Given the description of an element on the screen output the (x, y) to click on. 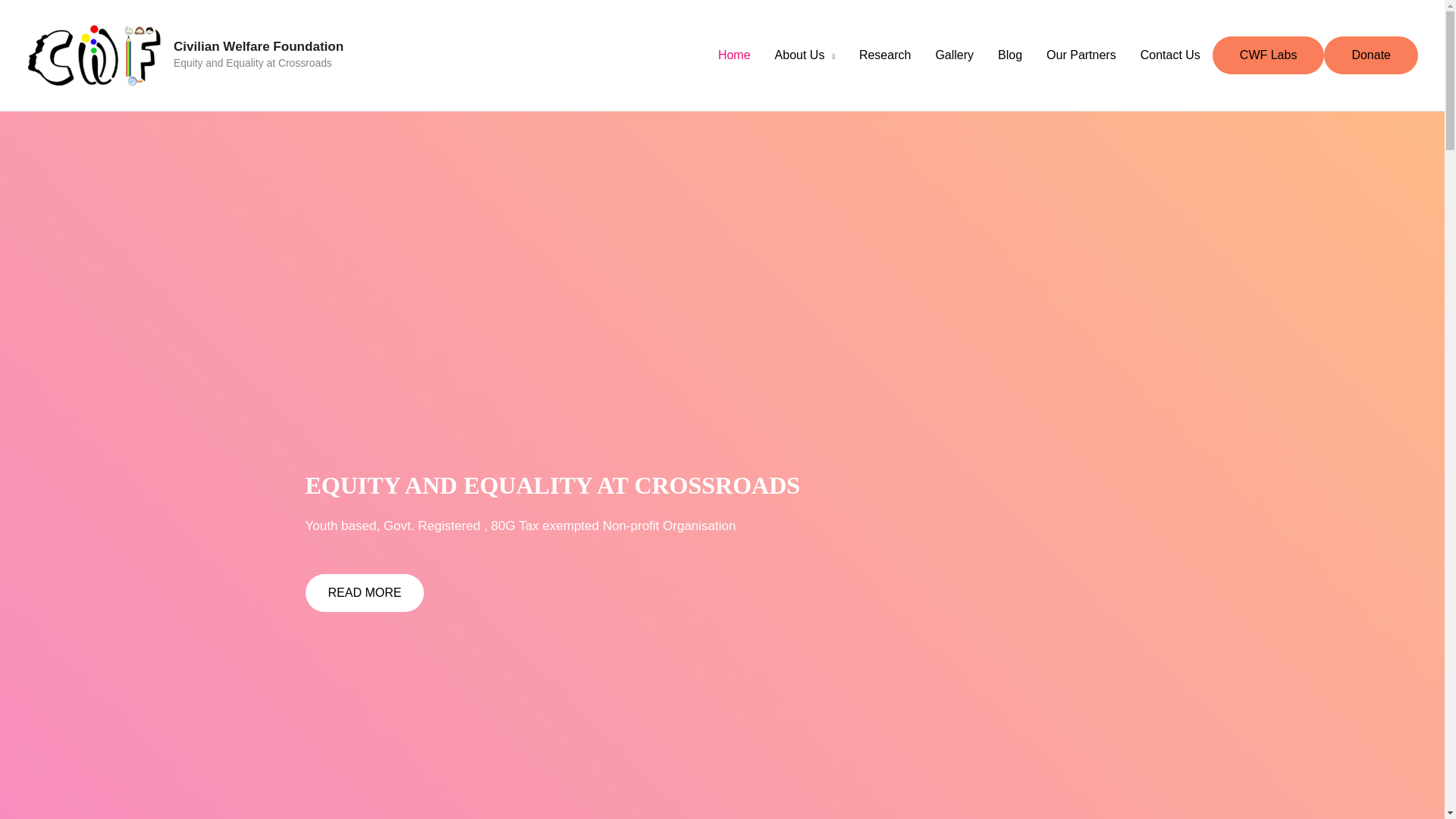
Donate (1371, 55)
Our Partners (1080, 55)
Contact Us (1170, 55)
About Us (804, 55)
Home (734, 55)
CWF Labs (1267, 55)
Blog (1009, 55)
READ MORE (363, 592)
Research (885, 55)
Gallery (954, 55)
